Given the description of an element on the screen output the (x, y) to click on. 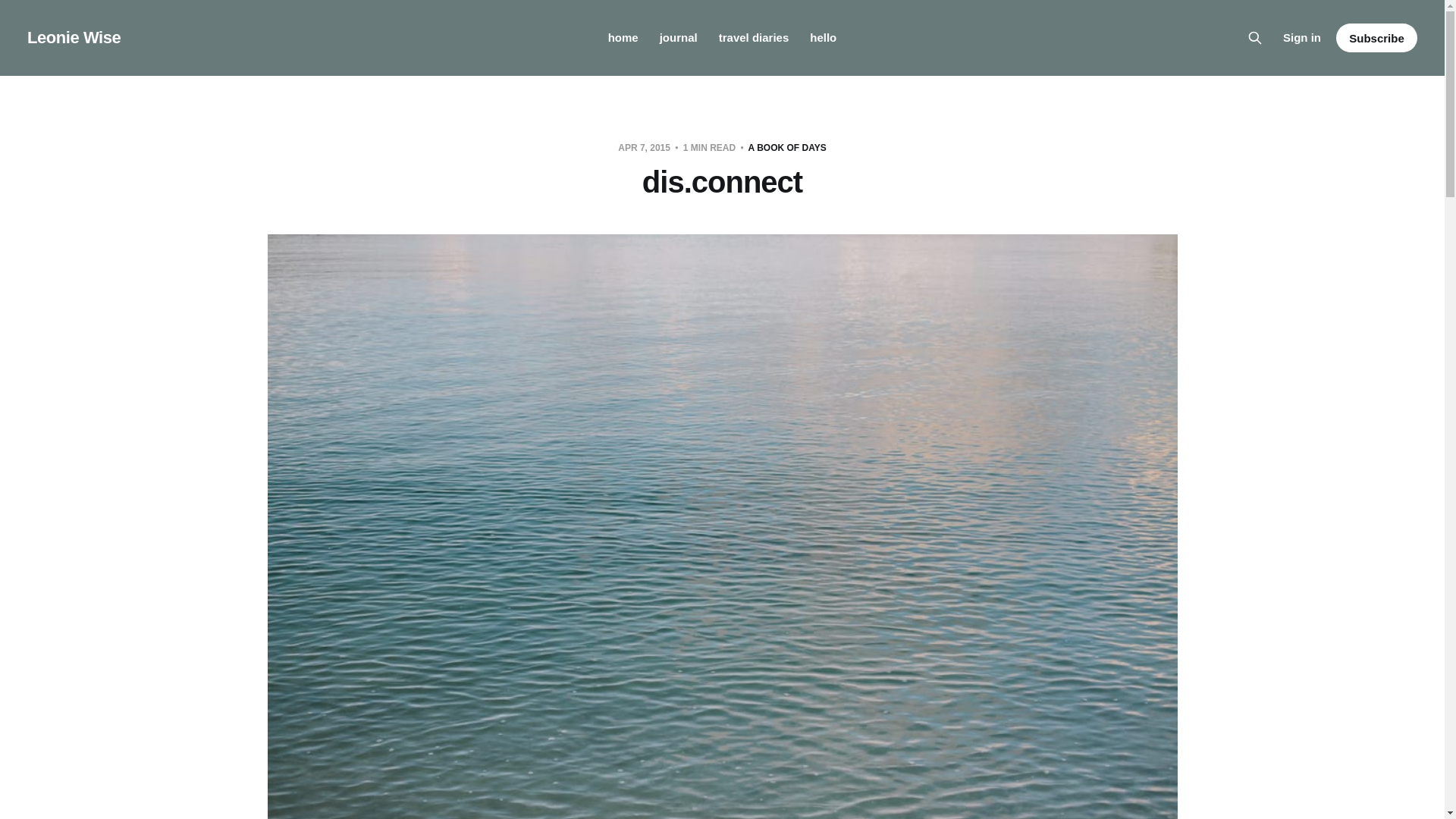
hello (822, 37)
Leonie Wise (73, 37)
journal (678, 37)
home (623, 37)
Subscribe (1376, 37)
A BOOK OF DAYS (787, 147)
Sign in (1301, 37)
travel diaries (754, 37)
